Given the description of an element on the screen output the (x, y) to click on. 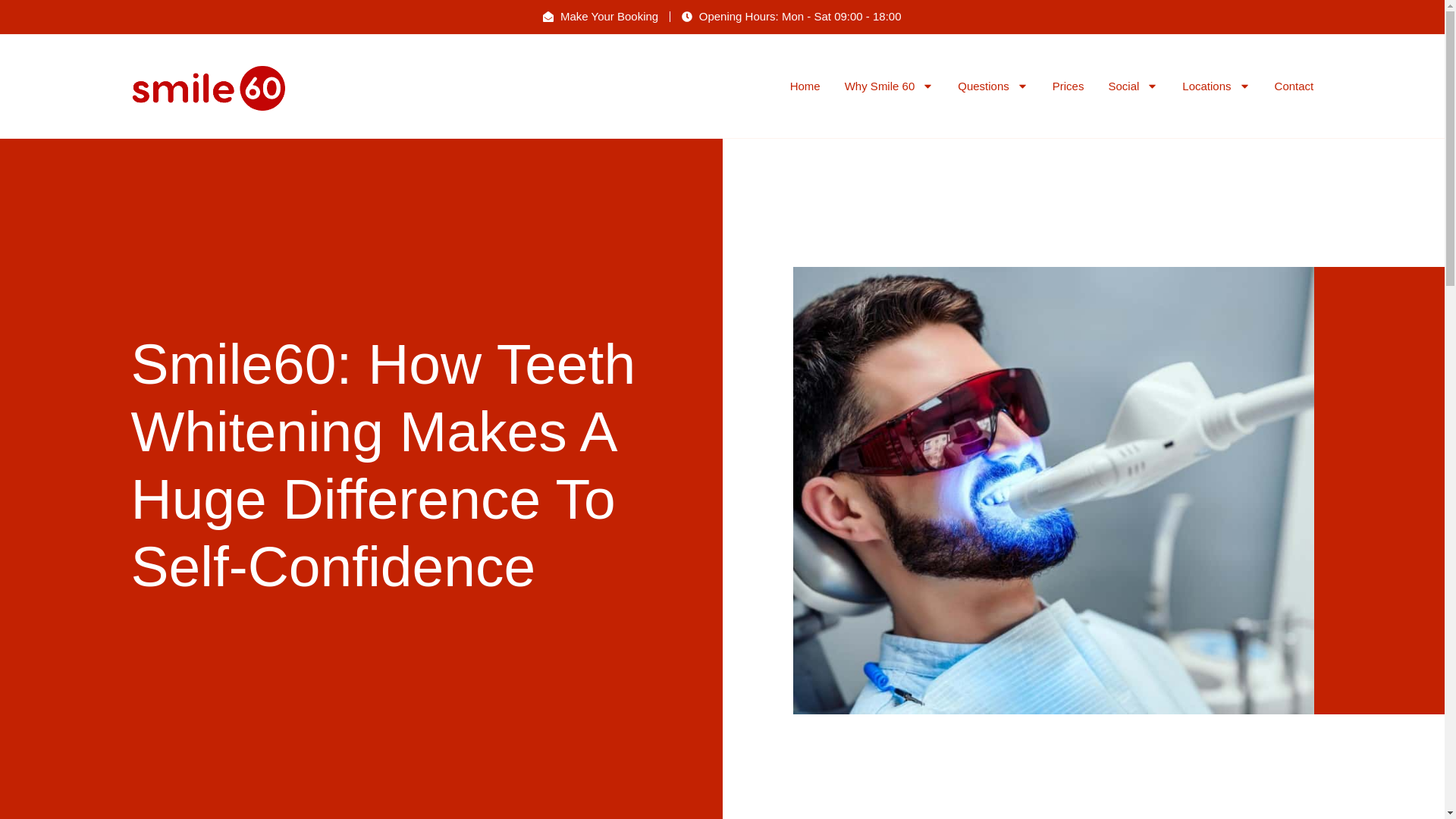
Locations (1215, 86)
Make Your Booking (600, 16)
Questions (992, 86)
Home (805, 86)
Social (1132, 86)
Why Smile 60 (889, 86)
Prices (1068, 86)
